Given the description of an element on the screen output the (x, y) to click on. 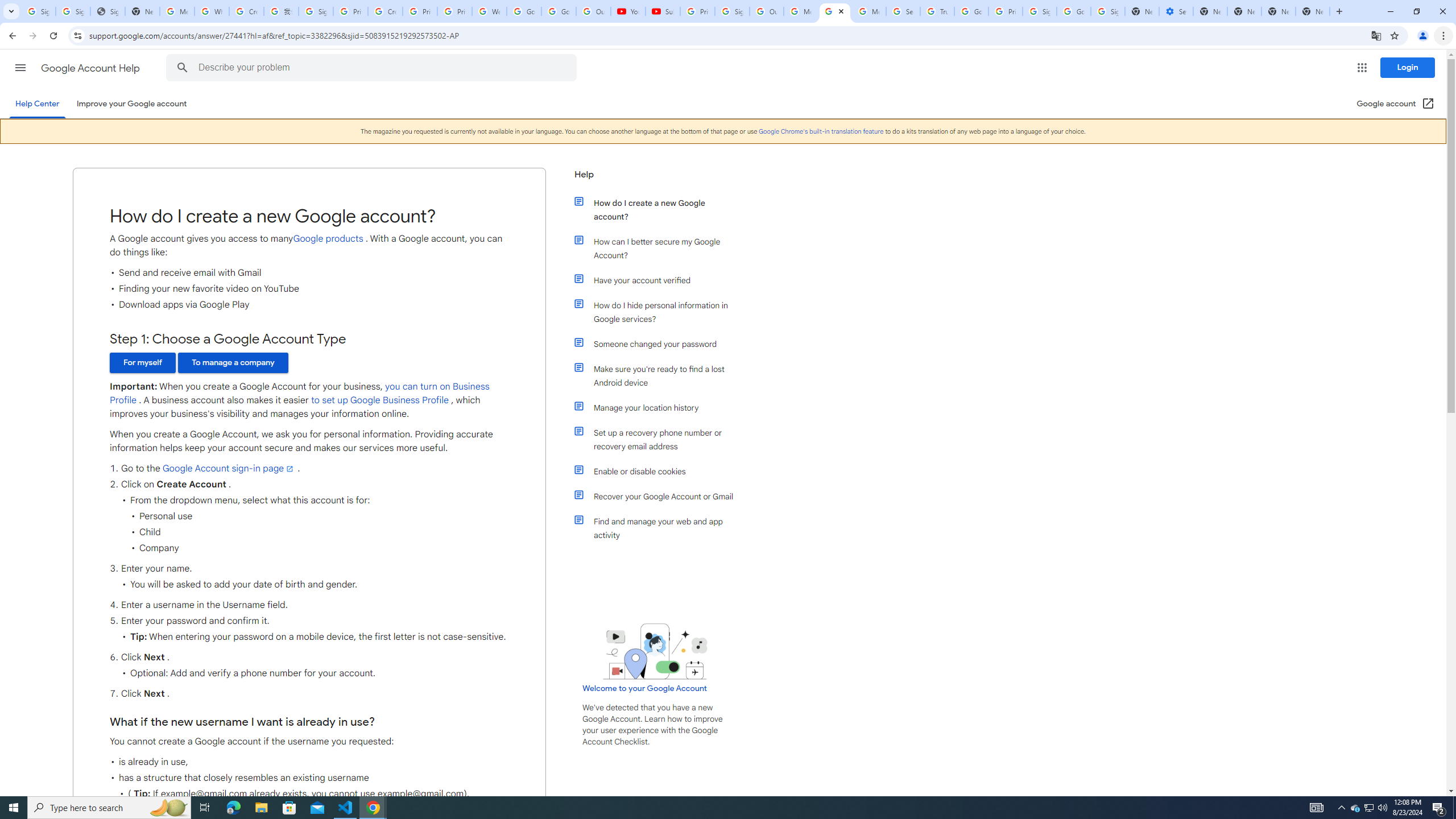
Chrome (1445, 35)
Google products (328, 238)
Translate this page (1376, 35)
How do I create a new Google Account? - Google Account Help (834, 11)
Google Account (557, 11)
Sign in - Google Accounts (315, 11)
View site information (77, 35)
To manage a company (232, 362)
Sign in - Google Accounts (1107, 11)
Google Ads - Sign in (970, 11)
